Given the description of an element on the screen output the (x, y) to click on. 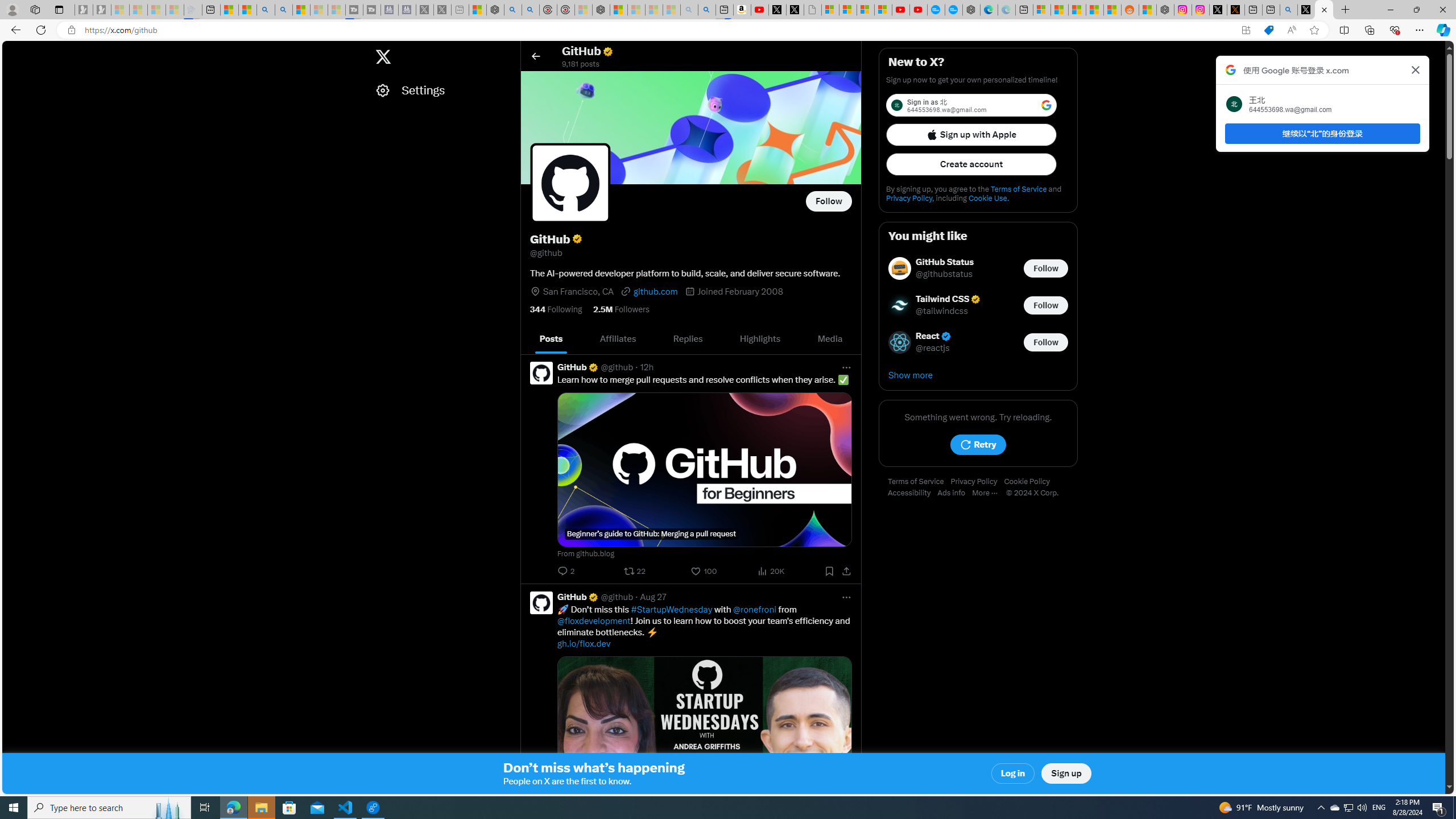
YouTube Kids - An App Created for Kids to Explore Content (917, 9)
Amazon Echo Dot PNG - Search Images (706, 9)
Show more (978, 375)
GitHub Status (944, 262)
Follow @github (828, 201)
Create account (971, 164)
Follow @tailwindcss (1045, 304)
22 reposts. Repost (635, 571)
Sign up (1066, 773)
Profile / X (1306, 9)
New split screen (724, 9)
12 hours ago (646, 367)
